Given the description of an element on the screen output the (x, y) to click on. 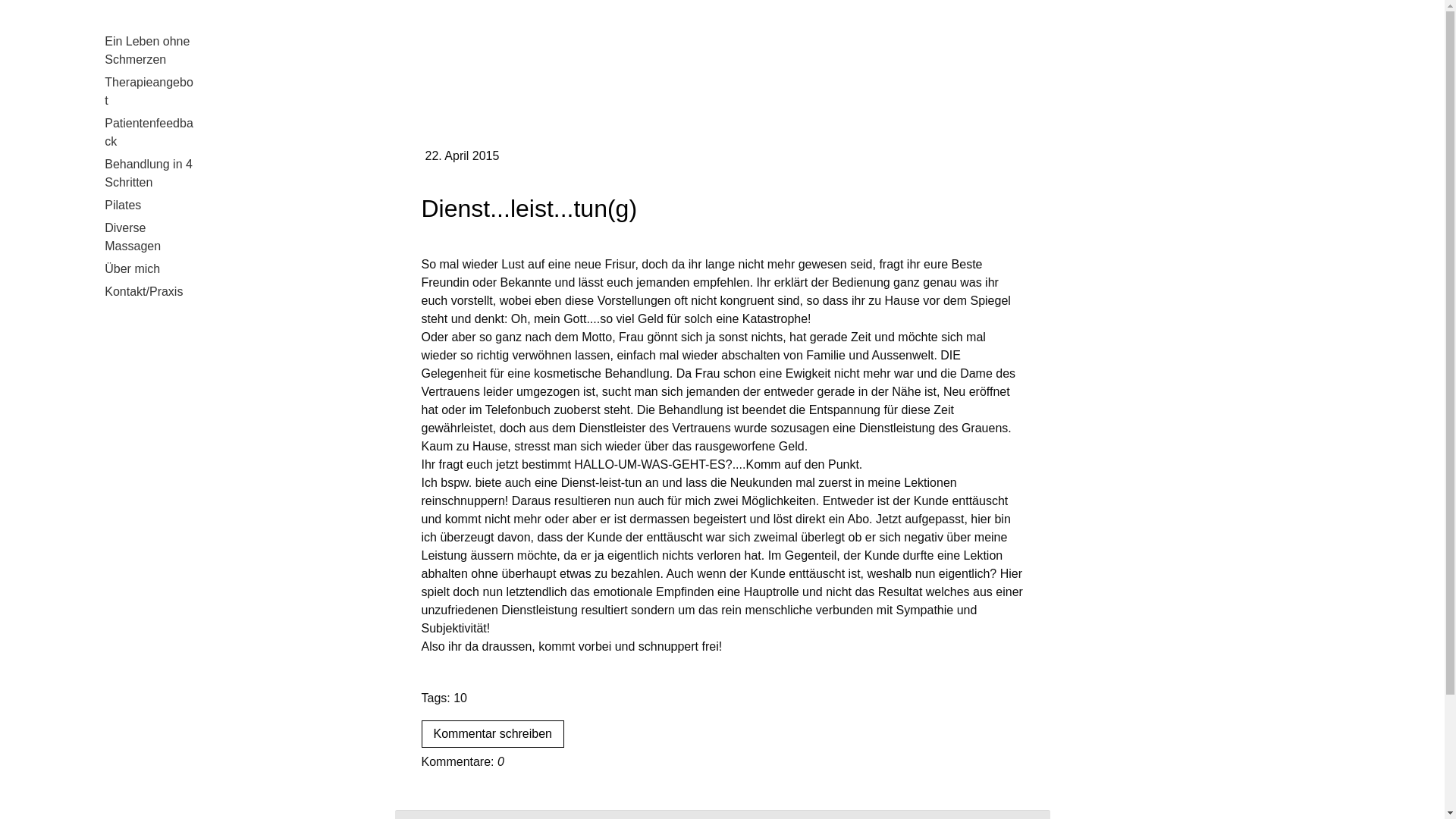
Patientenfeedback Element type: text (147, 132)
Ein Leben ohne Schmerzen Element type: text (147, 50)
Therapieangebot Element type: text (147, 91)
Kommentar schreiben Element type: text (492, 733)
Diverse Massagen Element type: text (147, 236)
Pilates Element type: text (147, 205)
Kontakt/Praxis Element type: text (147, 291)
Behandlung in 4 Schritten Element type: text (147, 173)
